Given the description of an element on the screen output the (x, y) to click on. 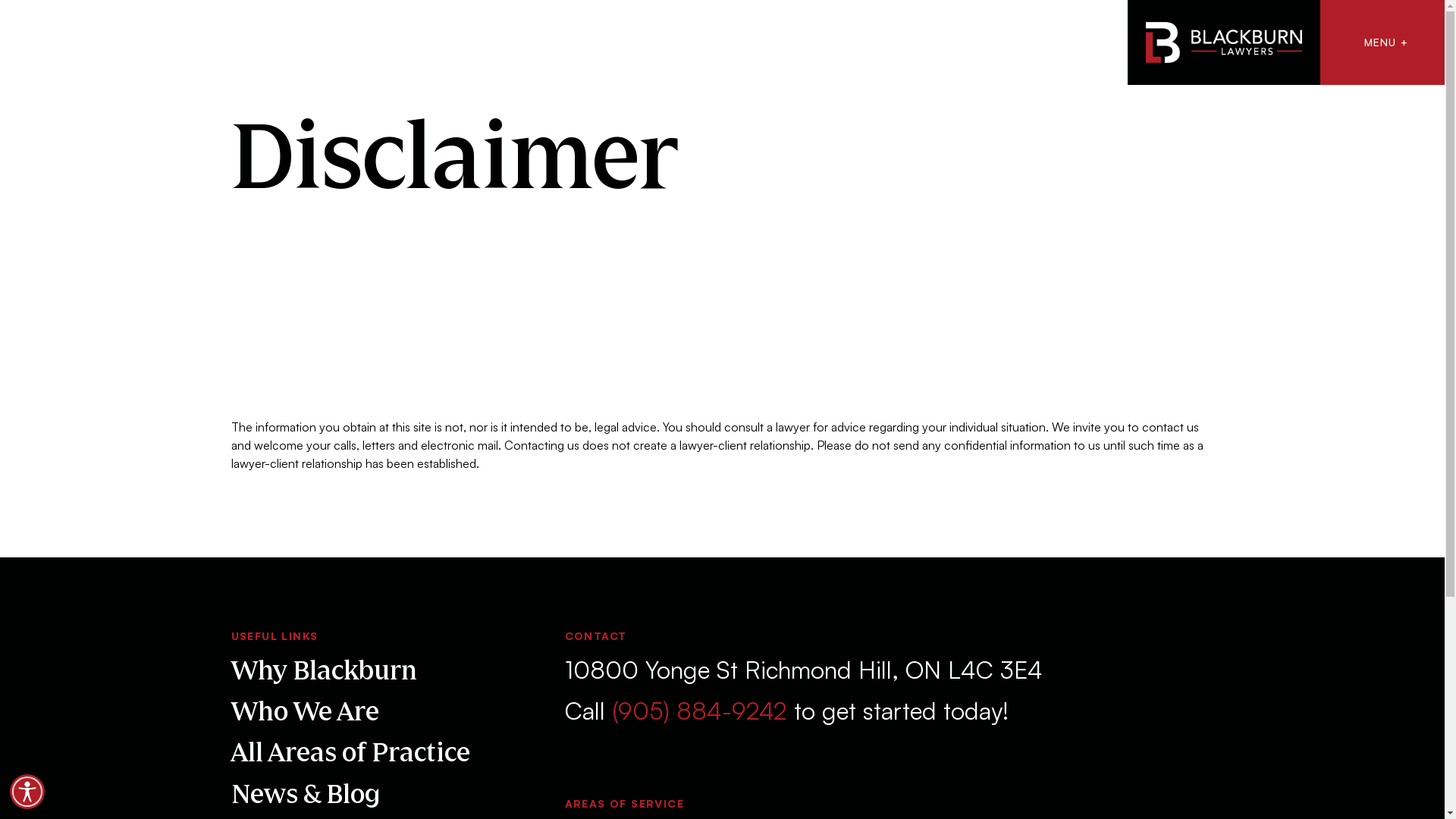
Why Blackburn Element type: text (323, 669)
News & Blog Element type: text (304, 792)
All Areas of Practice Element type: text (349, 751)
Who We Are Element type: text (304, 710)
(905) 884-9242 Element type: text (698, 710)
